Given the description of an element on the screen output the (x, y) to click on. 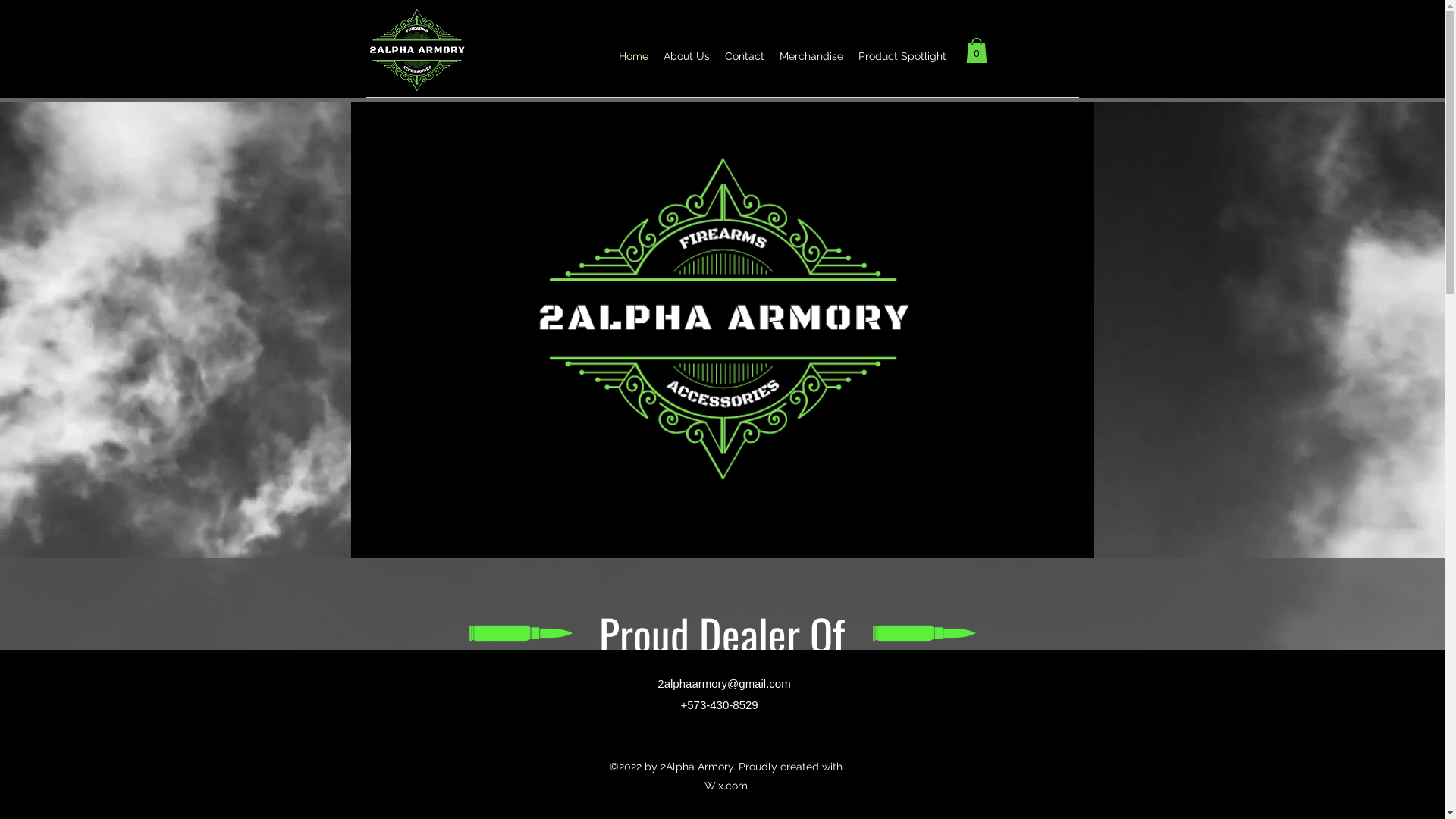
Merchandise Element type: text (810, 55)
Untitled design (1).png Element type: hover (923, 632)
Contact Element type: text (744, 55)
Untitled design (1).png Element type: hover (519, 632)
0 Element type: text (976, 49)
About Us Element type: text (686, 55)
Deco Alpha Logo  (1).png Element type: hover (722, 317)
Home Element type: text (633, 55)
Product Spotlight Element type: text (901, 55)
2alphaarmory@gmail.com Element type: text (723, 683)
